Given the description of an element on the screen output the (x, y) to click on. 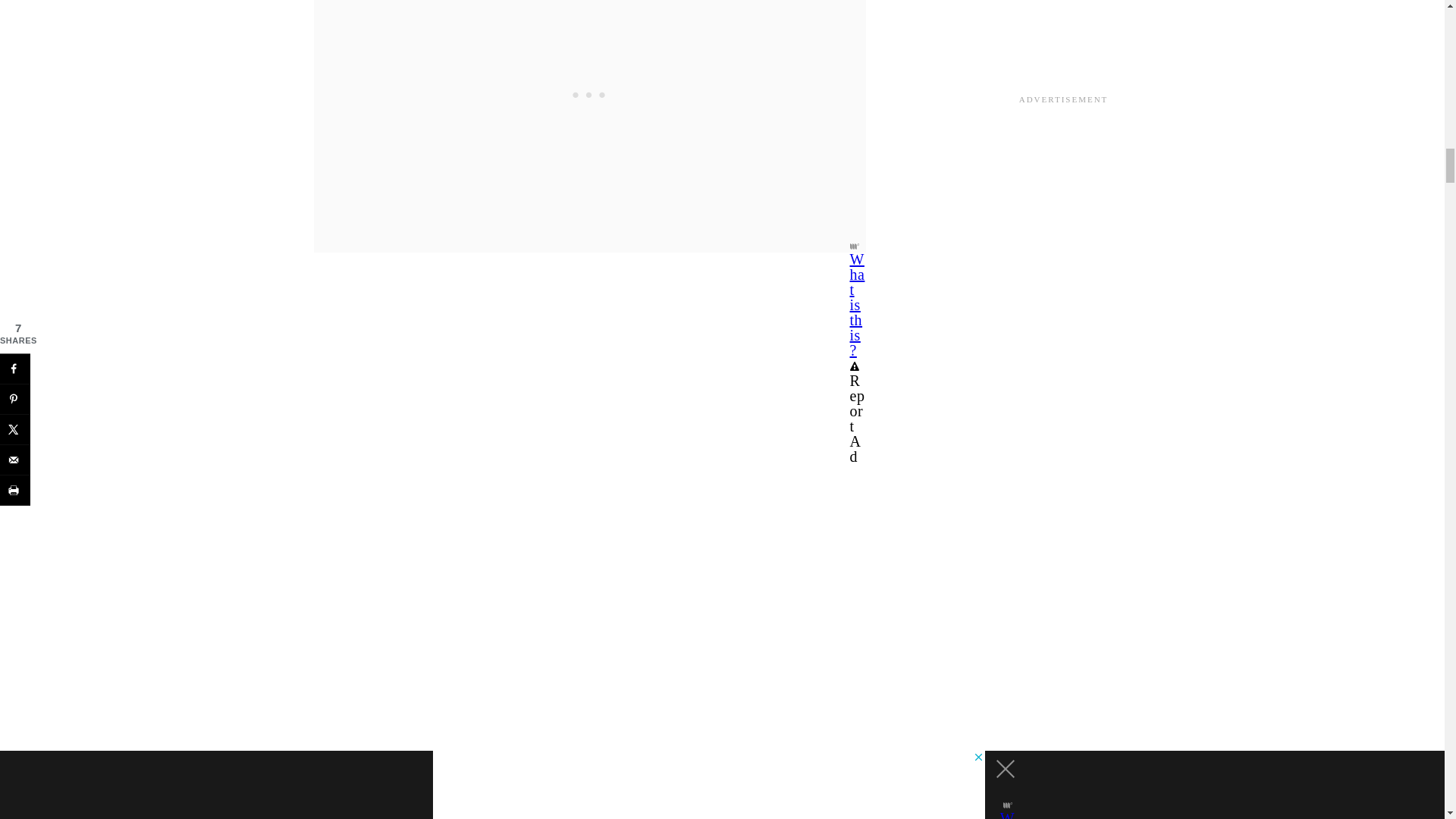
3rd party ad content (589, 54)
